Given the description of an element on the screen output the (x, y) to click on. 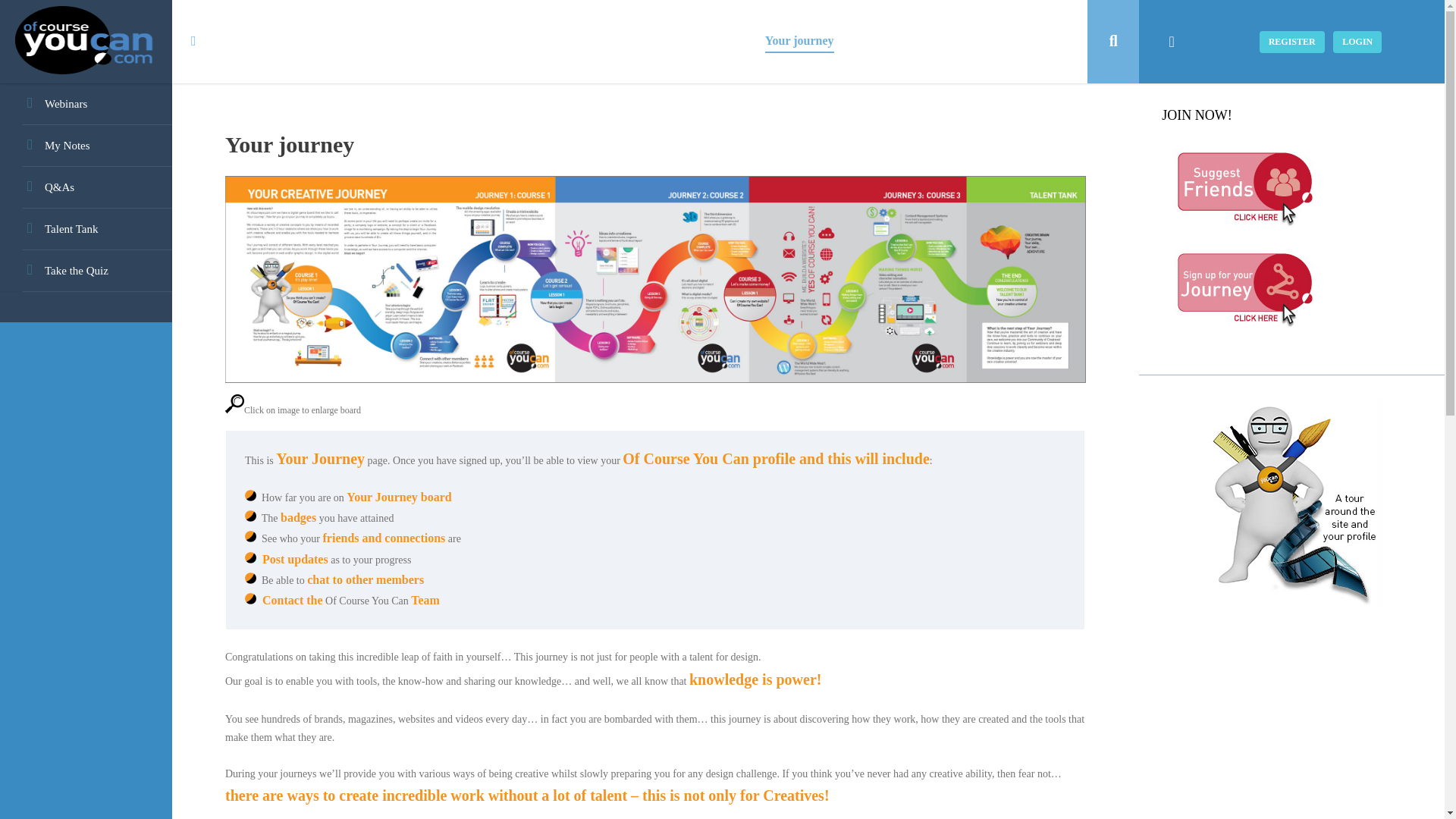
Webinars (85, 104)
Talent Tank (85, 229)
REGISTER (1291, 41)
Starter pack (714, 41)
Take the Quiz (85, 270)
Who are we? (330, 41)
What you will learn (435, 41)
Talent Tank (949, 41)
Contact us (1026, 41)
